Given the description of an element on the screen output the (x, y) to click on. 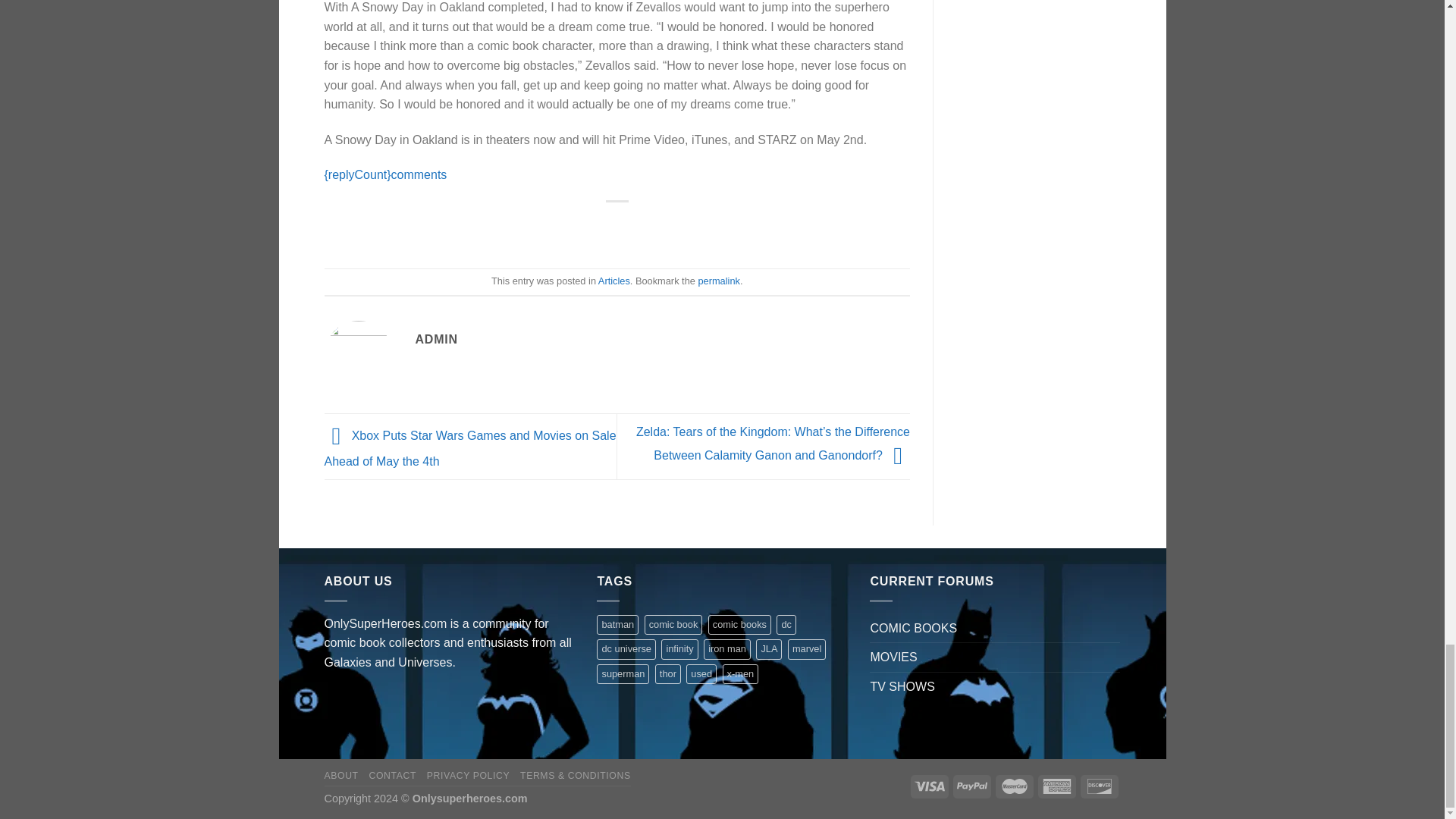
Articles (614, 280)
